Given the description of an element on the screen output the (x, y) to click on. 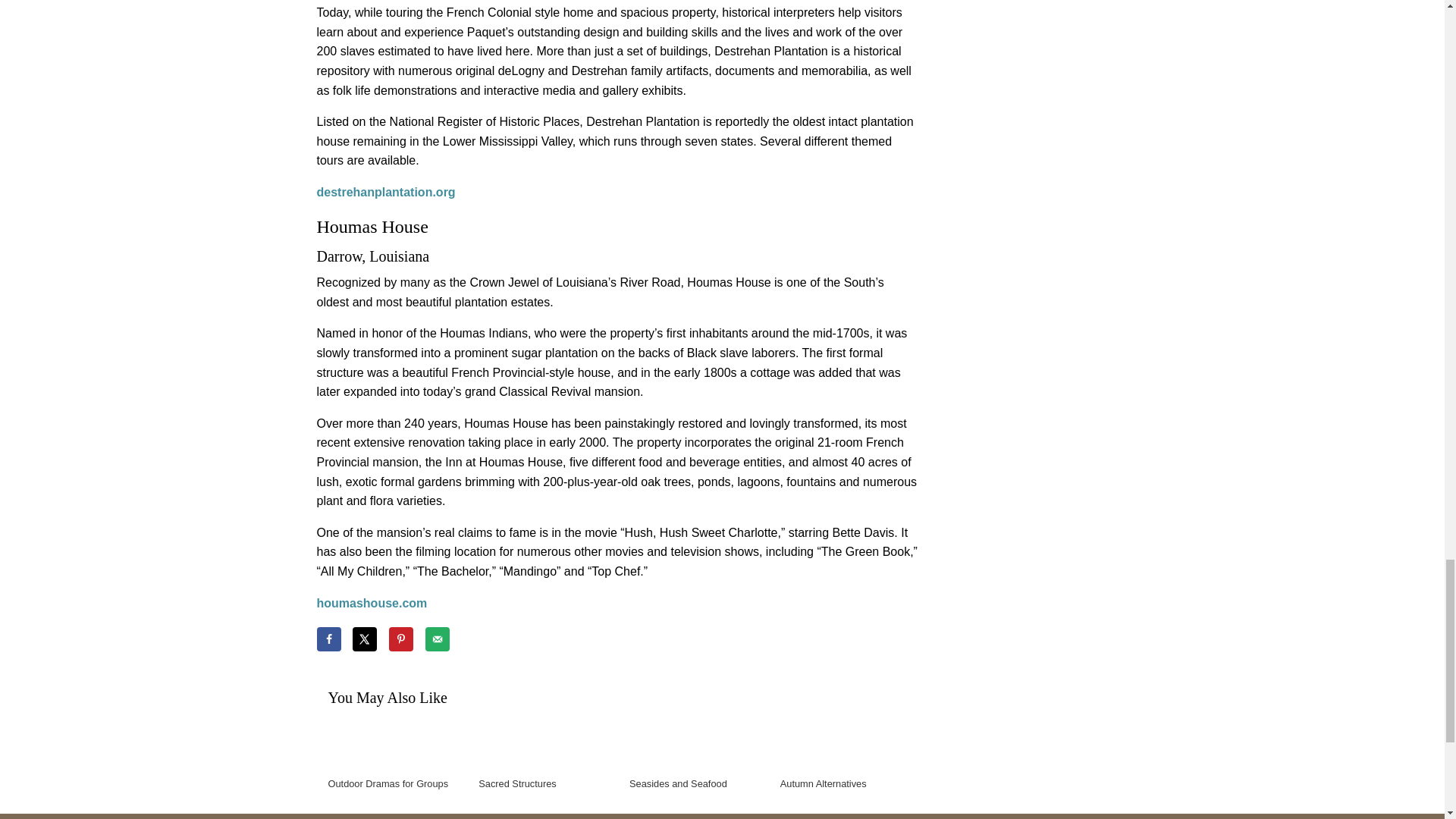
Share on X (364, 639)
Share on Facebook (328, 639)
Send over email (437, 639)
Save to Pinterest (400, 639)
